Given the description of an element on the screen output the (x, y) to click on. 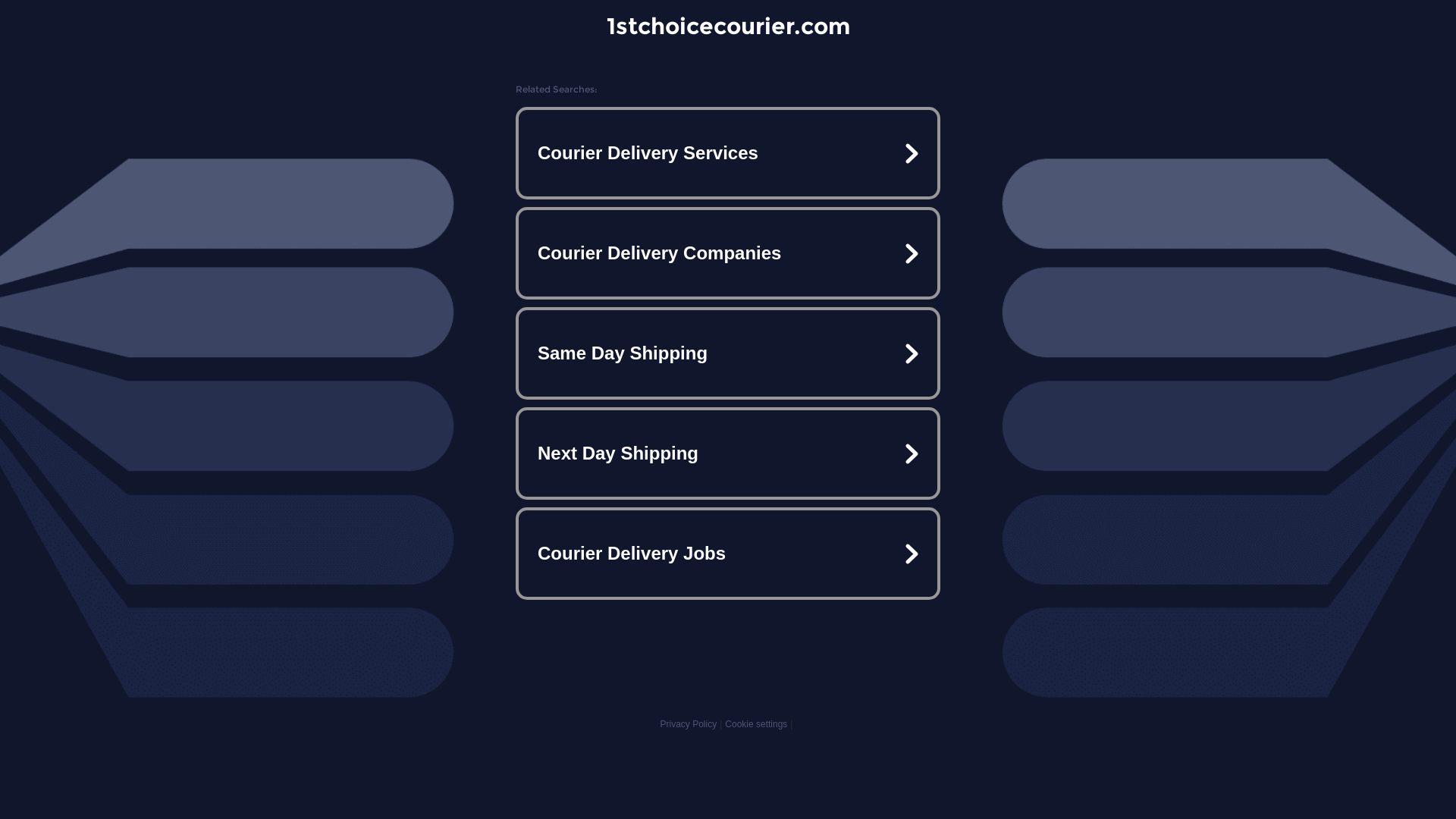
Same Day Shipping Element type: text (727, 353)
Next Day Shipping Element type: text (727, 453)
Courier Delivery Jobs Element type: text (727, 553)
1stchoicecourier.com Element type: text (728, 26)
Privacy Policy Element type: text (687, 723)
Courier Delivery Services Element type: text (727, 152)
Cookie settings Element type: text (755, 723)
Courier Delivery Companies Element type: text (727, 253)
